Given the description of an element on the screen output the (x, y) to click on. 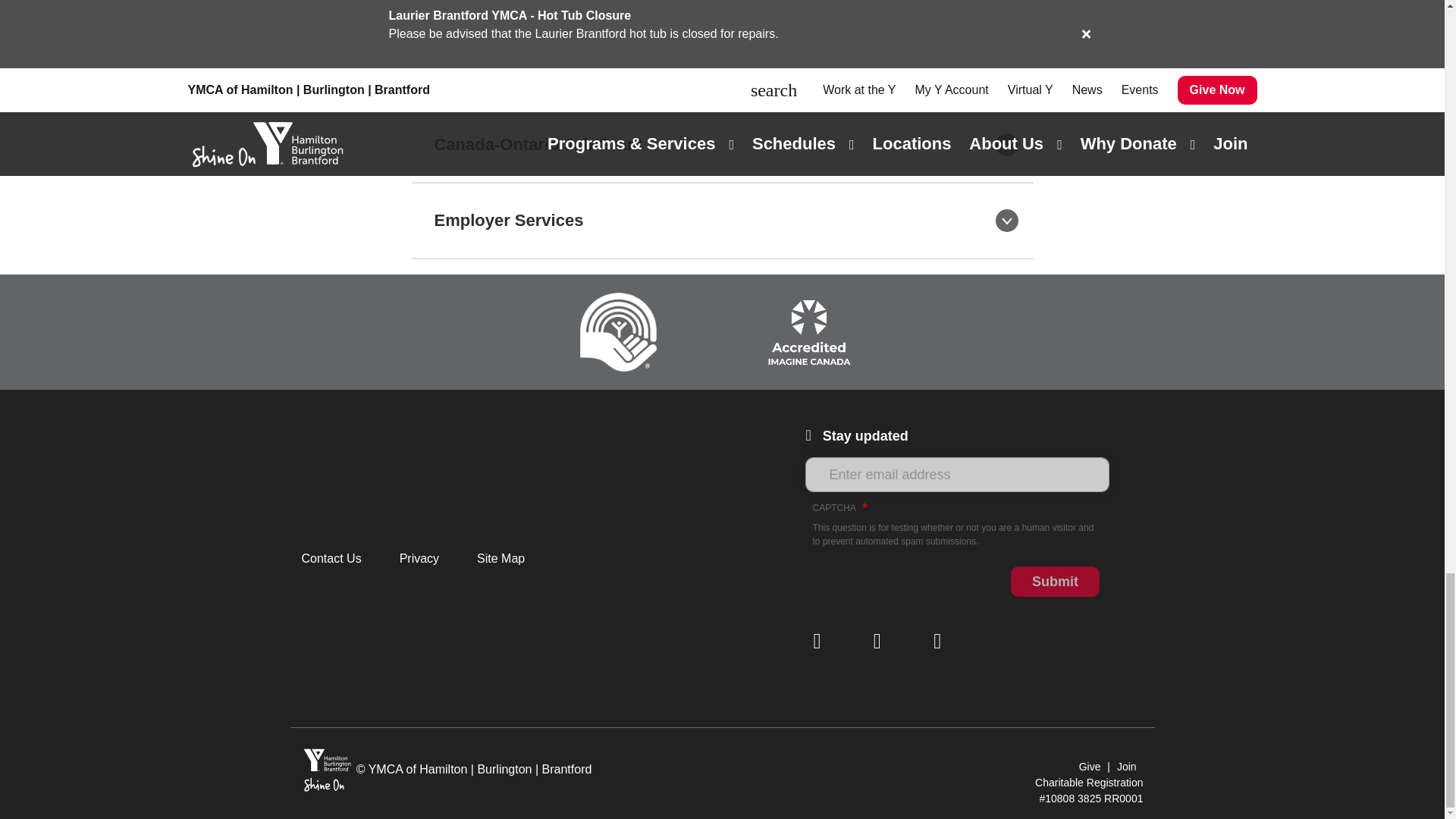
Go to YMCA Facebook (884, 640)
Go to YMCA Twitter (944, 640)
Submit (1054, 581)
Go to YMCA Instagram (823, 640)
